Given the description of an element on the screen output the (x, y) to click on. 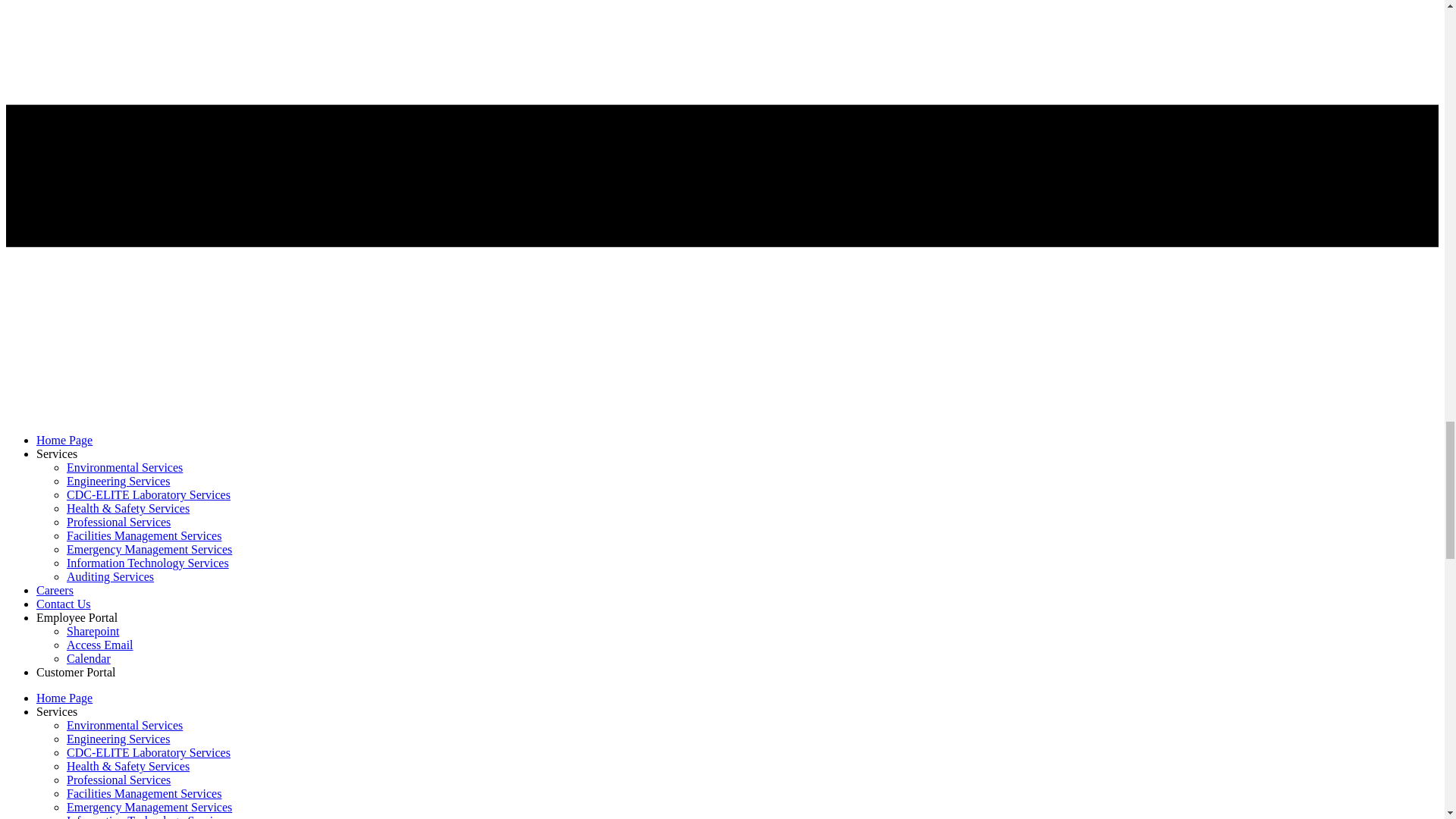
Environmental Services (124, 725)
Home Page (64, 440)
Engineering Services (118, 738)
Environmental Services (124, 467)
Sharepoint (92, 631)
CDC-ELITE Laboratory Services (148, 752)
Professional Services (118, 779)
Employee Portal (76, 617)
Professional Services (118, 521)
Home Page (64, 697)
Services (56, 453)
Services (56, 711)
Access Email (99, 644)
Customer Portal (75, 671)
Auditing Services (110, 576)
